Given the description of an element on the screen output the (x, y) to click on. 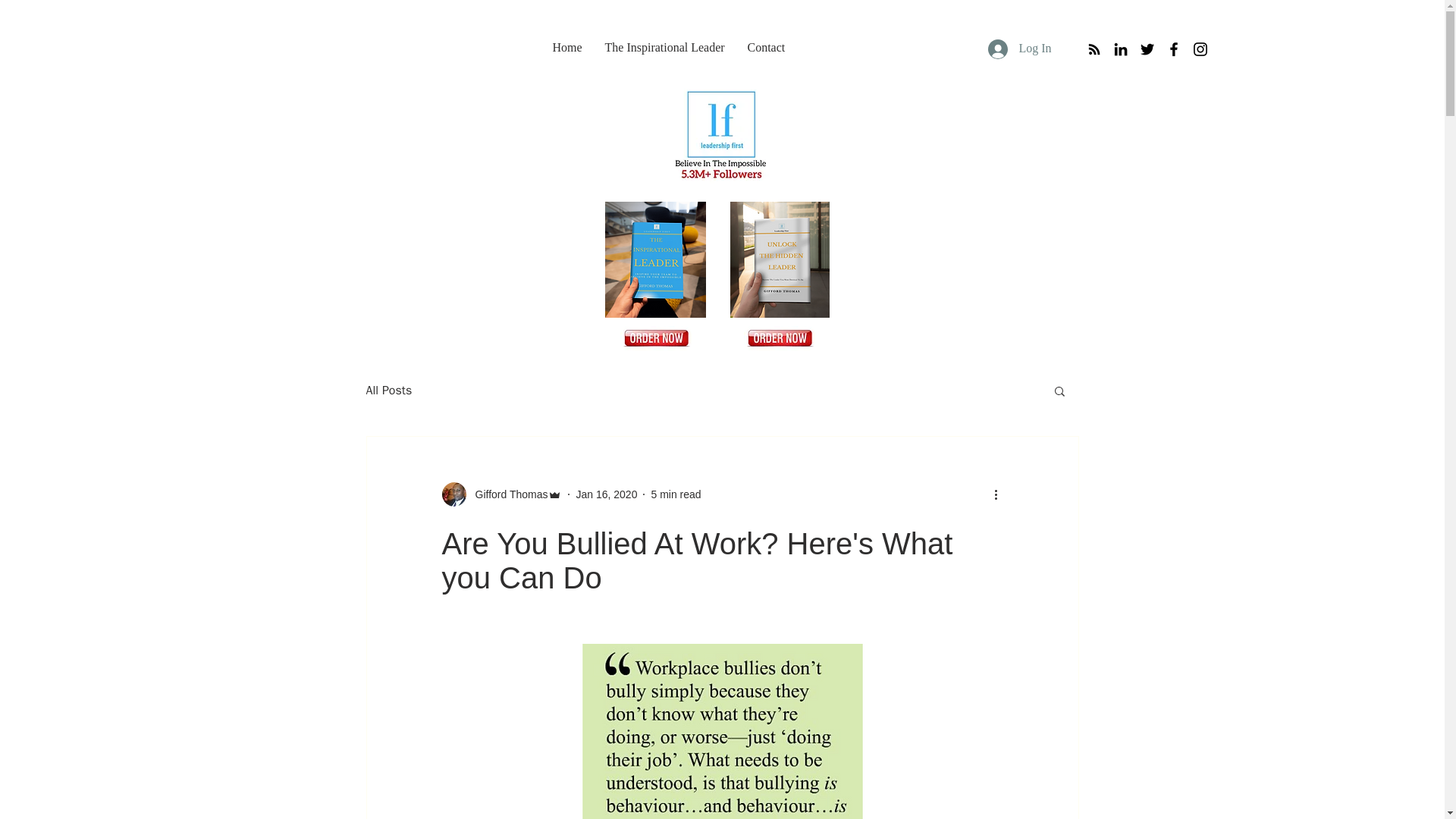
Contact (765, 47)
All Posts (388, 390)
Jan 16, 2020 (606, 494)
5 min read (675, 494)
Home (567, 47)
Gifford Thomas (506, 494)
The Inspirational Leader (663, 47)
Log In (1018, 49)
Gifford Thomas (501, 494)
